Given the description of an element on the screen output the (x, y) to click on. 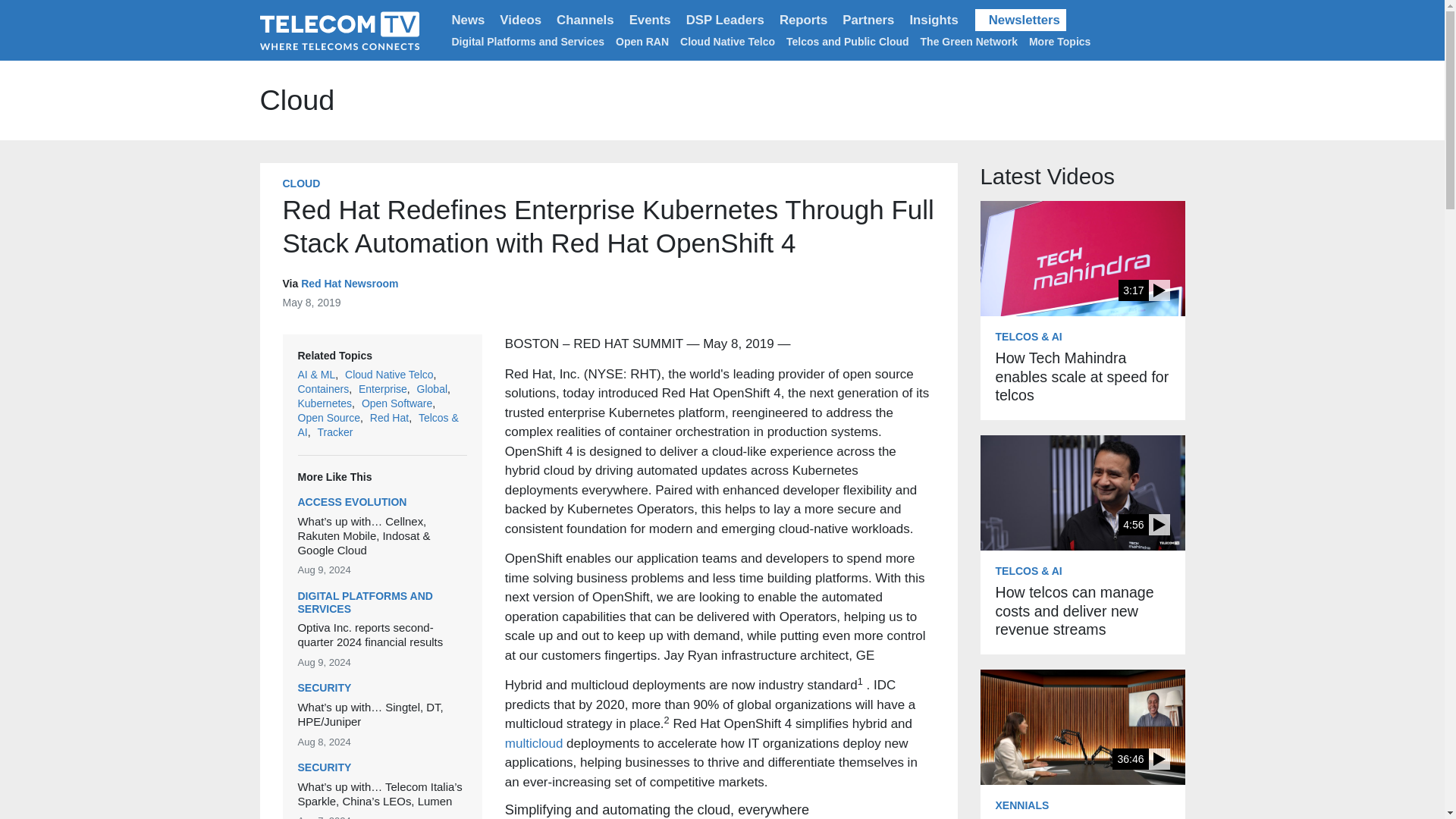
Reports (802, 20)
News (468, 20)
DSP Leaders (724, 20)
Telcos and Public Cloud (847, 41)
Digital Platforms and Services (528, 41)
Events (650, 20)
Newsletters (1020, 20)
Partners (867, 20)
Videos (520, 20)
Open RAN (641, 41)
